Given the description of an element on the screen output the (x, y) to click on. 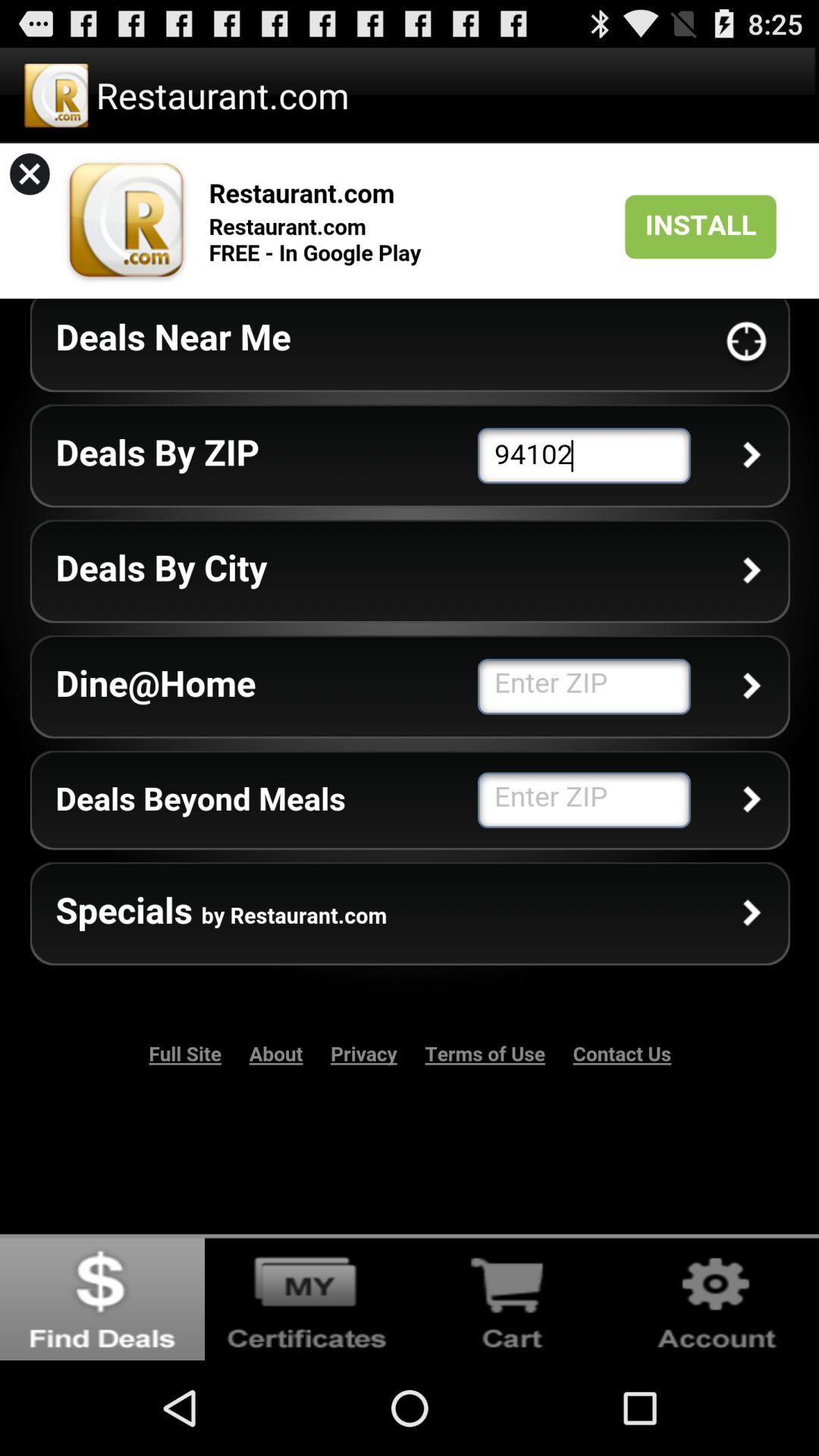
go to account (716, 1297)
